Given the description of an element on the screen output the (x, y) to click on. 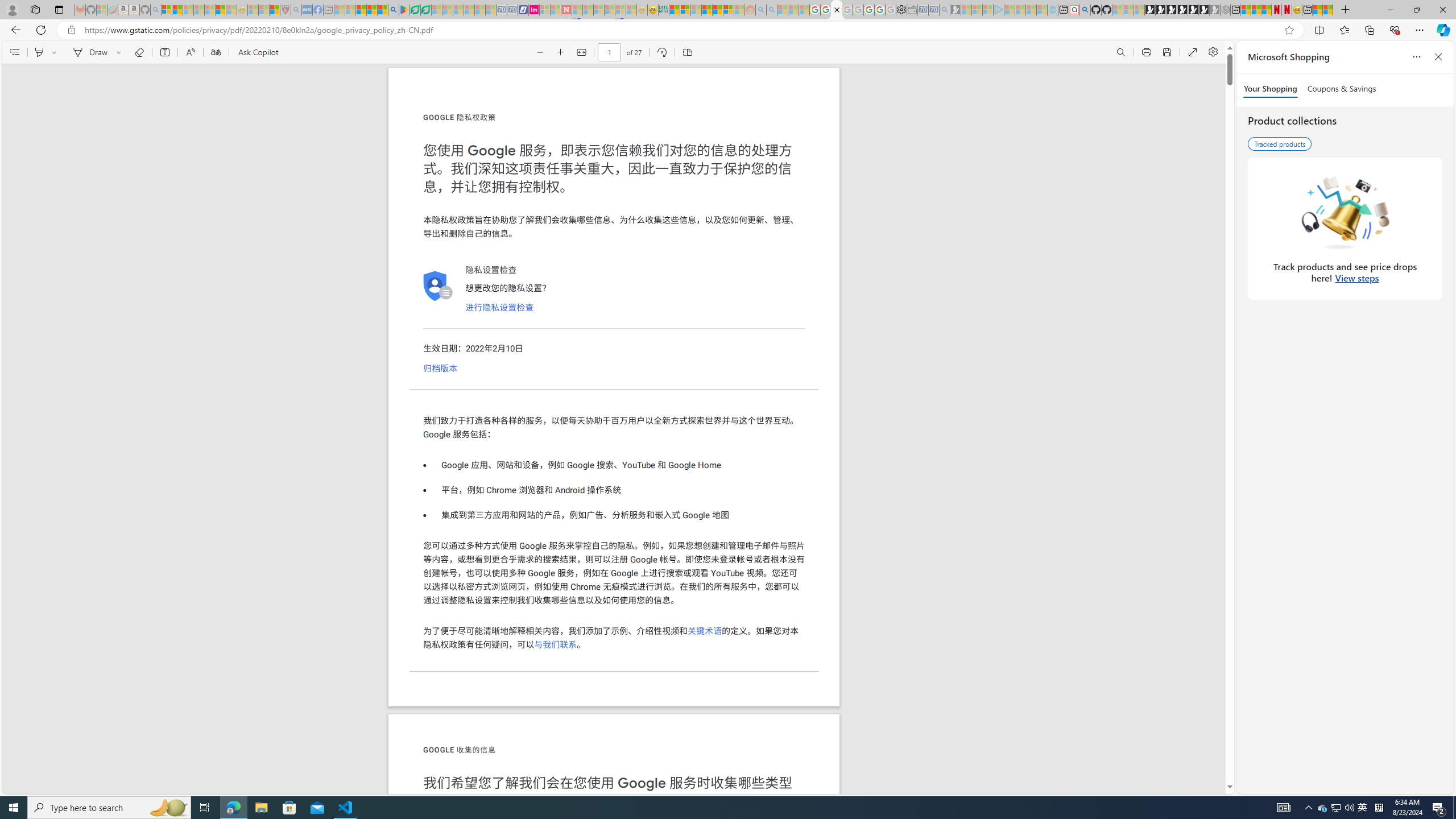
PDF bar (613, 51)
Add text (164, 52)
Zoom in (Ctrl+Plus key) (561, 52)
Fit to width (Ctrl+\) (581, 52)
